Given the description of an element on the screen output the (x, y) to click on. 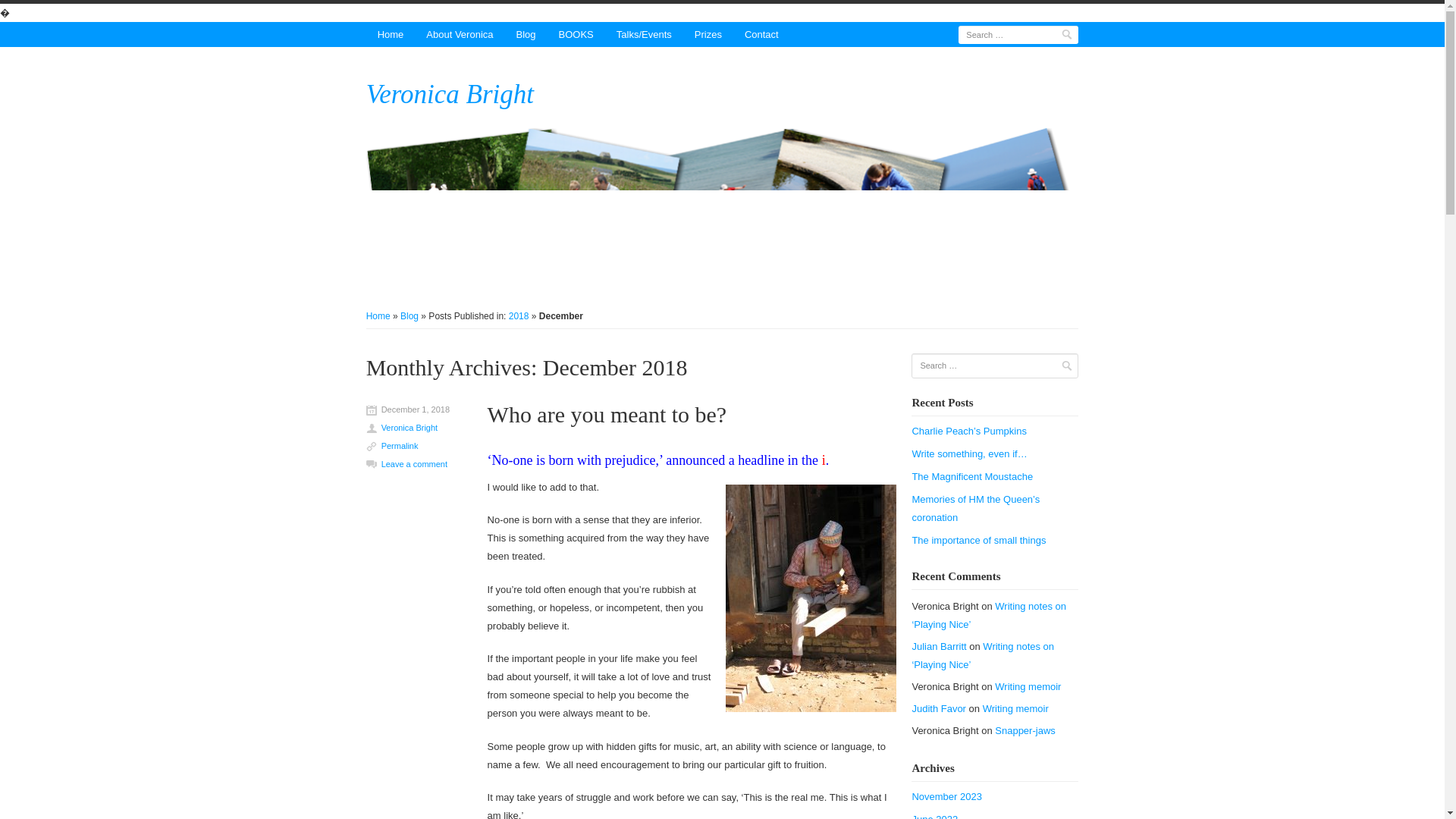
About Veronica (458, 34)
Blog (409, 316)
Search (1066, 366)
Leave a comment (413, 463)
Home (390, 34)
Snapper-jaws (1024, 730)
Prizes (707, 34)
Contact (761, 34)
Writing memoir (1027, 686)
Search (1066, 366)
Veronica Bright (722, 202)
Veronica Bright (450, 93)
The importance of small things (994, 540)
View all posts by Veronica Bright (426, 428)
Permalink (400, 445)
